Given the description of an element on the screen output the (x, y) to click on. 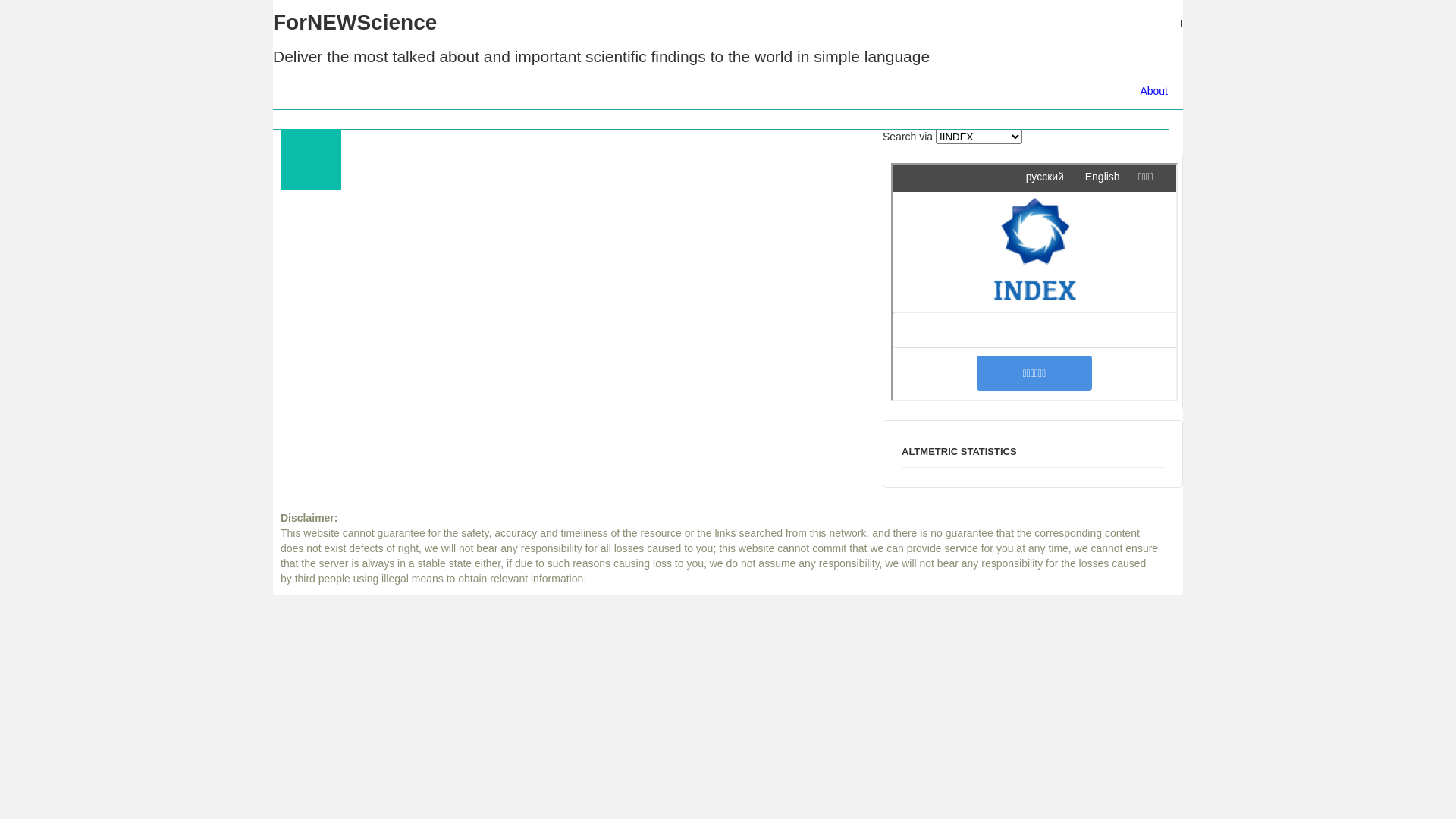
ForNEWScience Element type: text (354, 22)
About Element type: text (1153, 90)
